Given the description of an element on the screen output the (x, y) to click on. 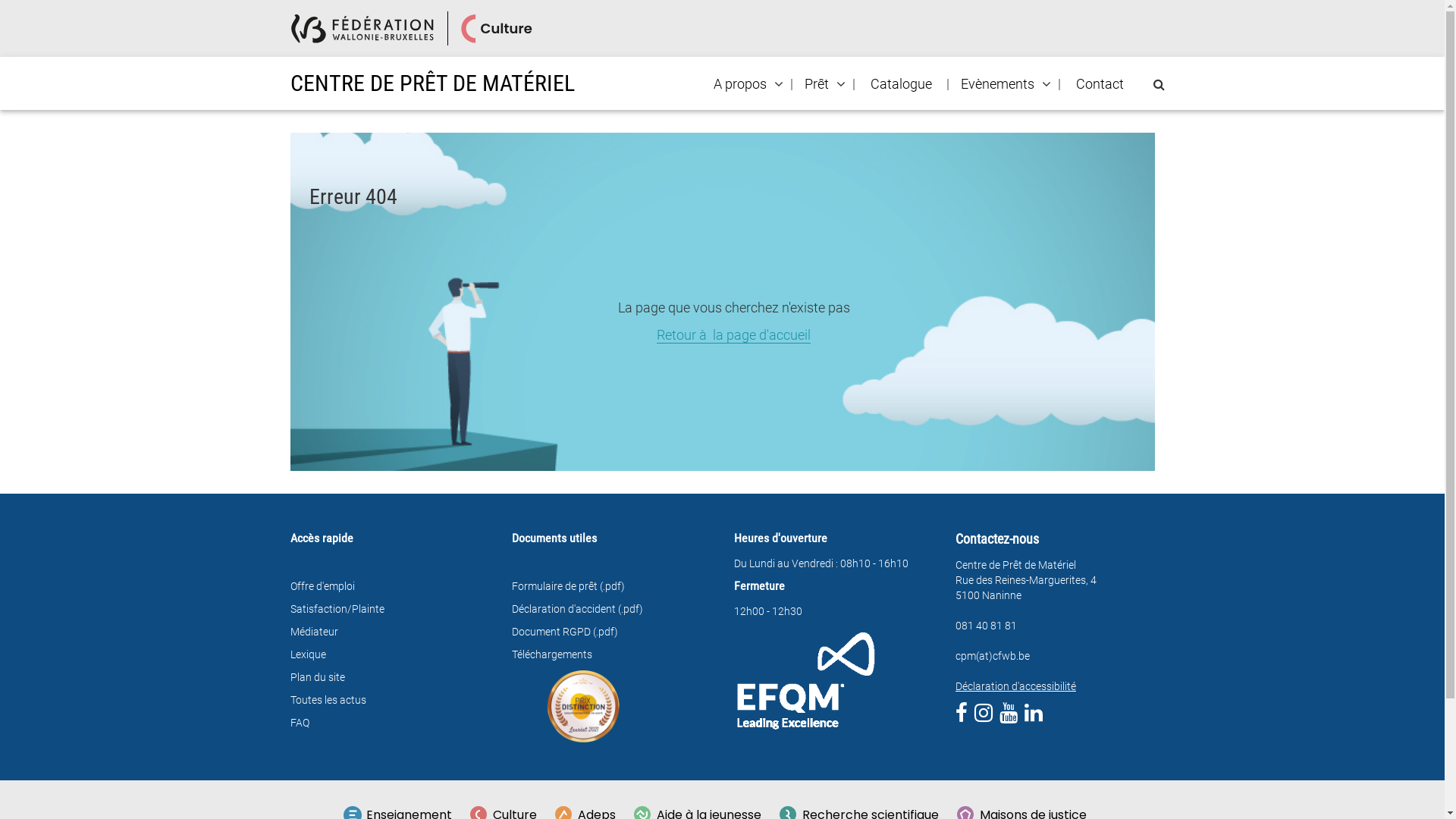
Rechercher sur le site Element type: text (1158, 84)
Toutes les actus Element type: text (327, 699)
EFQM Element type: hover (805, 679)
Plan du site Element type: text (316, 677)
Lexique Element type: text (307, 654)
A propos Element type: text (740, 84)
081 40 81 81 Element type: text (985, 625)
Prix distinction Element type: hover (583, 706)
Recherche Element type: text (5, 11)
Contact Element type: text (1099, 84)
Satisfaction/Plainte Element type: text (336, 608)
cpm(at)cfwb.be Element type: text (992, 655)
Catalogue Element type: text (900, 84)
FAQ Element type: text (298, 722)
Offre d'emploi Element type: text (321, 586)
